Given the description of an element on the screen output the (x, y) to click on. 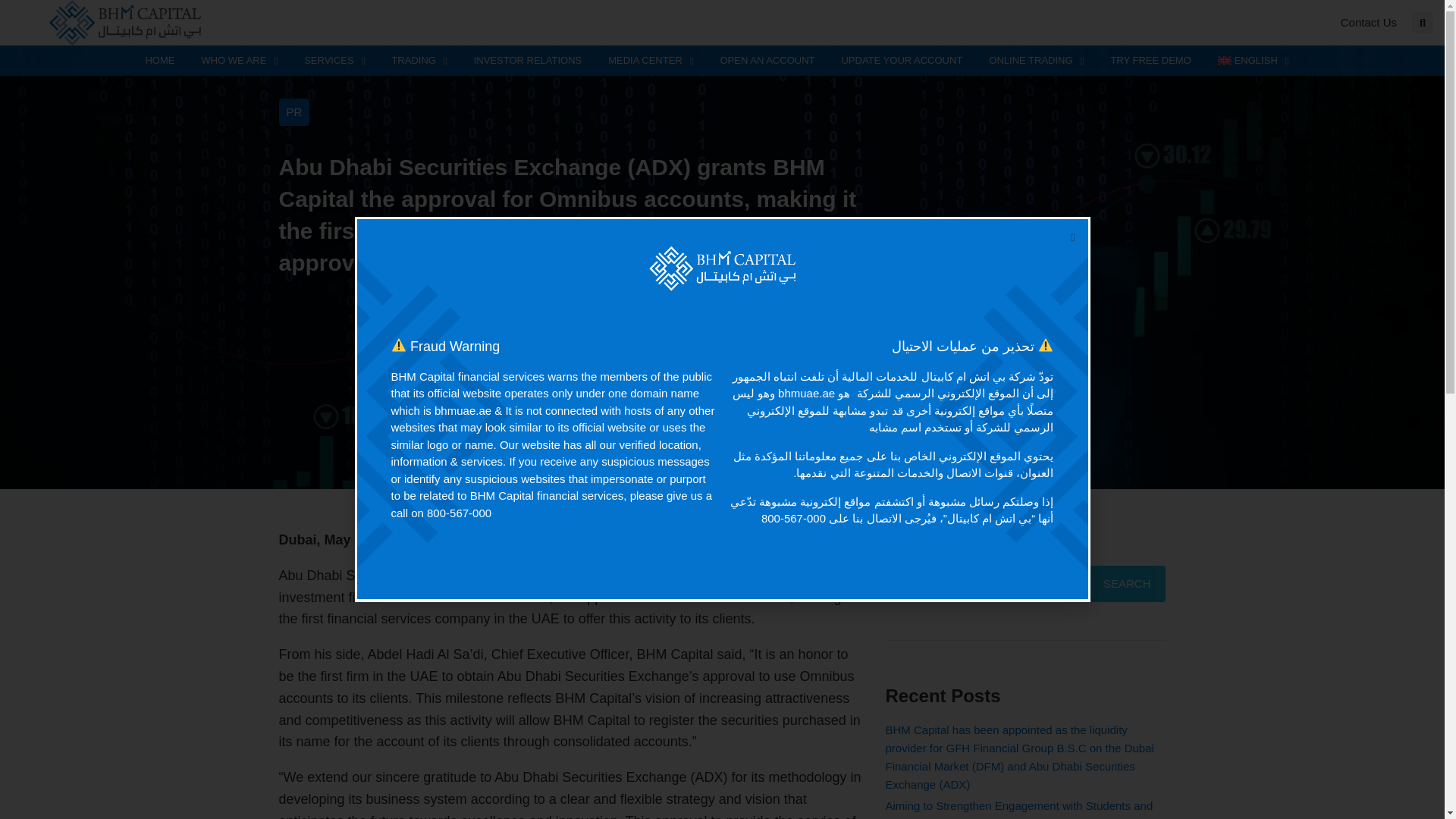
Contact Us (1368, 22)
English (1253, 60)
HOME (159, 60)
SERVICES (333, 60)
WHO WE ARE (238, 60)
